Given the description of an element on the screen output the (x, y) to click on. 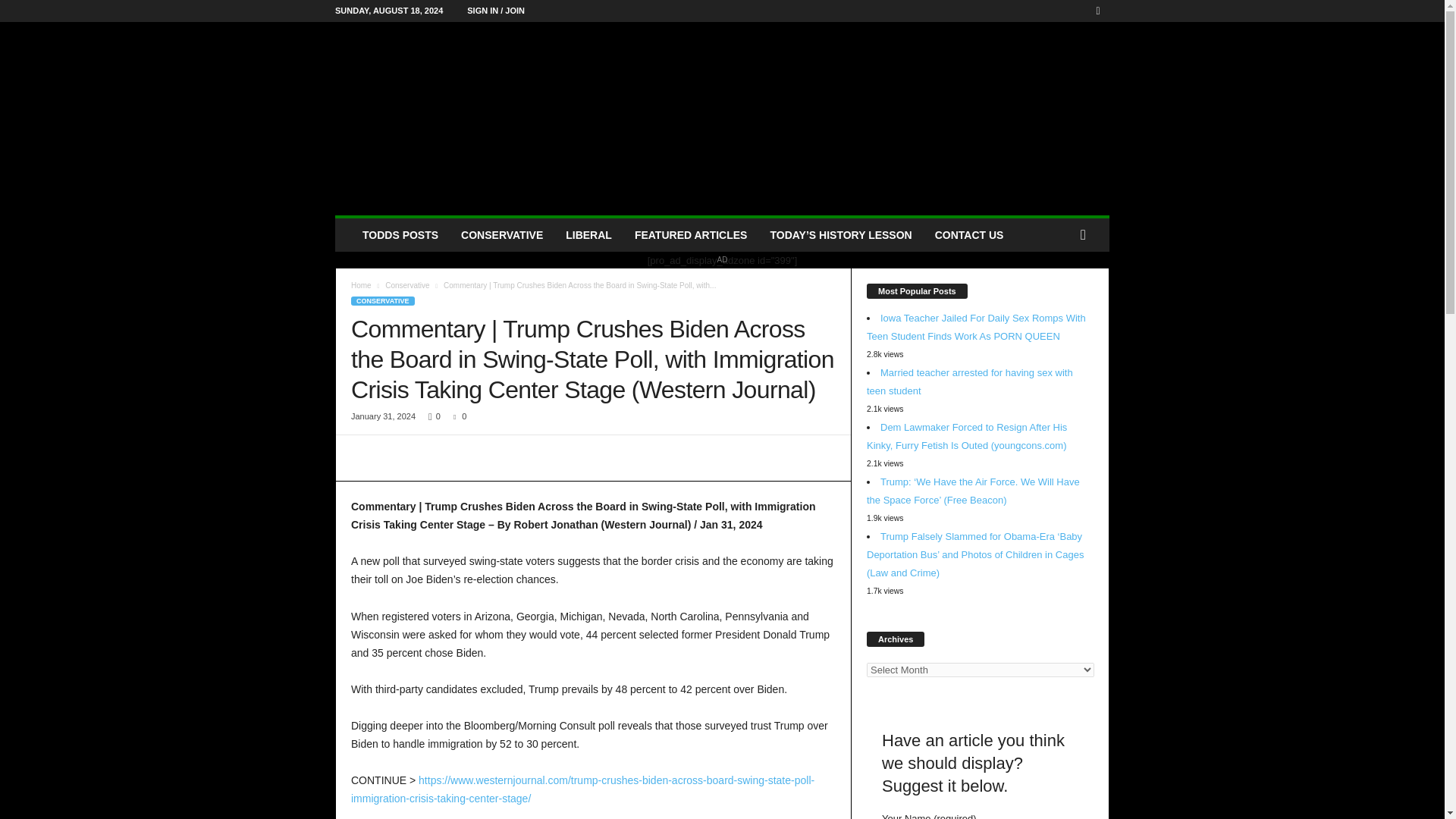
CONSERVATIVE (501, 234)
TODDS POSTS (399, 234)
